Given the description of an element on the screen output the (x, y) to click on. 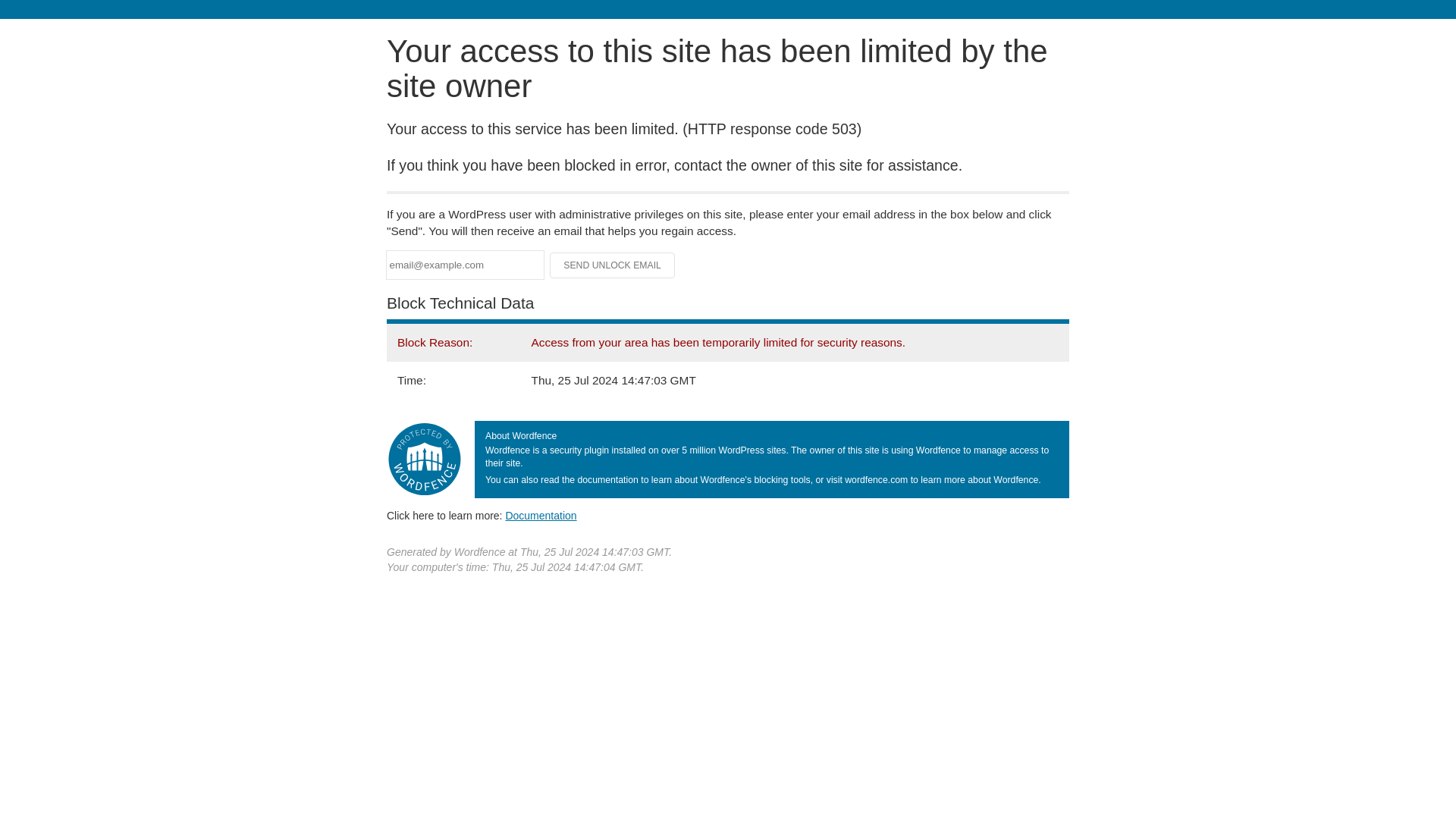
Documentation (540, 515)
Send Unlock Email (612, 265)
Send Unlock Email (612, 265)
